Given the description of an element on the screen output the (x, y) to click on. 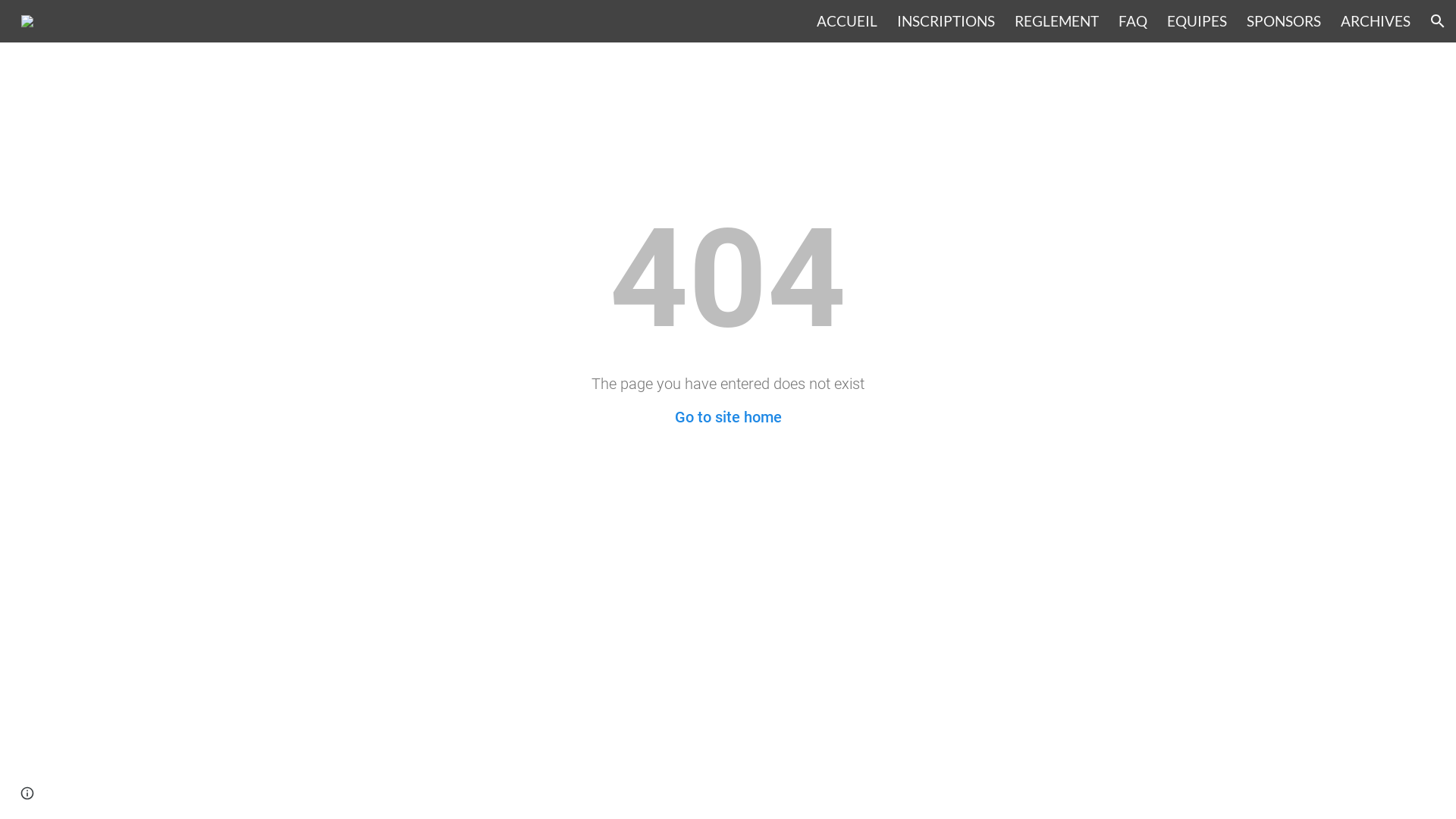
SPONSORS Element type: text (1283, 20)
ARCHIVES Element type: text (1375, 20)
INSCRIPTIONS Element type: text (945, 20)
REGLEMENT Element type: text (1056, 20)
ACCUEIL Element type: text (846, 20)
Go to site home Element type: text (727, 416)
EQUIPES Element type: text (1196, 20)
FAQ Element type: text (1132, 20)
